Given the description of an element on the screen output the (x, y) to click on. 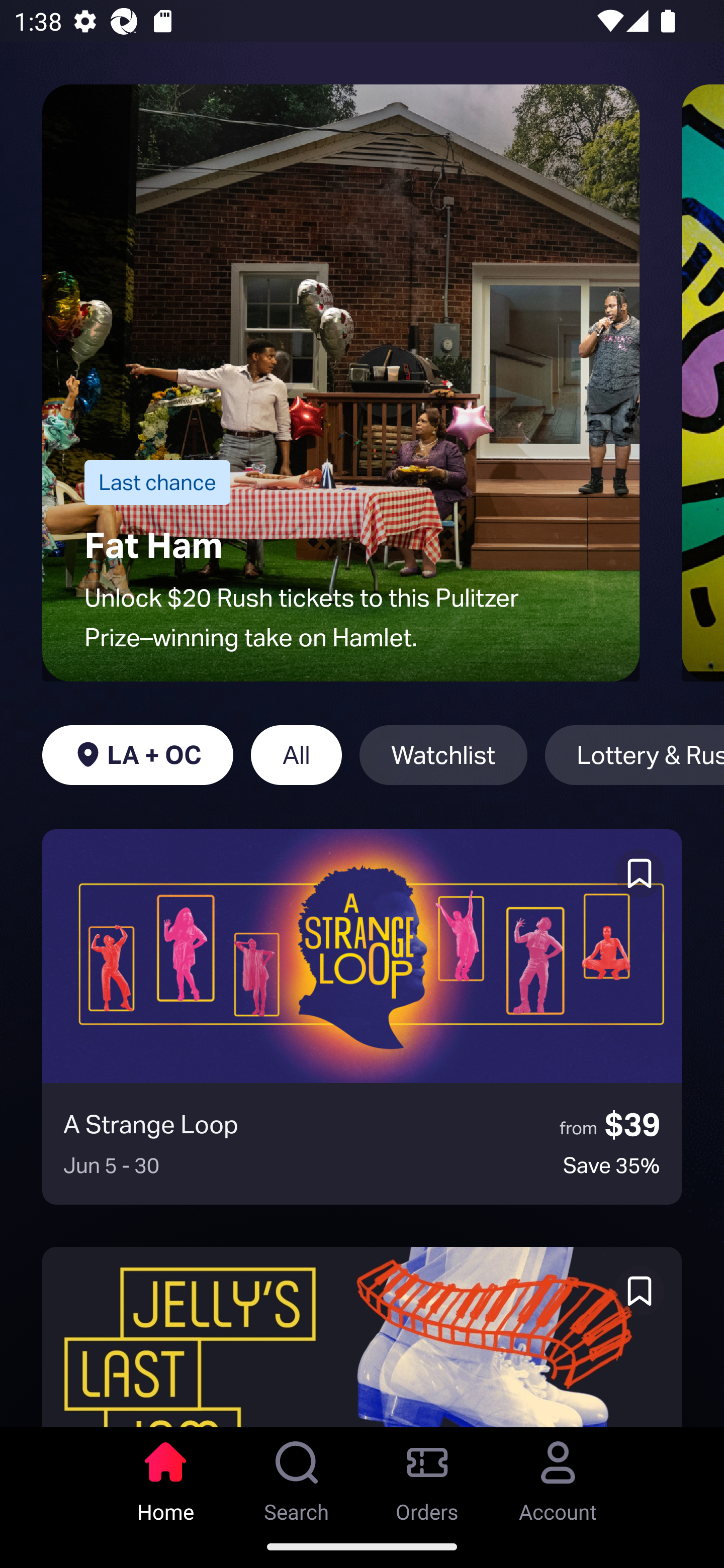
LA + OC (137, 754)
All (296, 754)
Watchlist (443, 754)
Lottery & Rush (634, 754)
A Strange Loop from $39 Jun 5 - 30 Save 35% (361, 1016)
Search (296, 1475)
Orders (427, 1475)
Account (558, 1475)
